Given the description of an element on the screen output the (x, y) to click on. 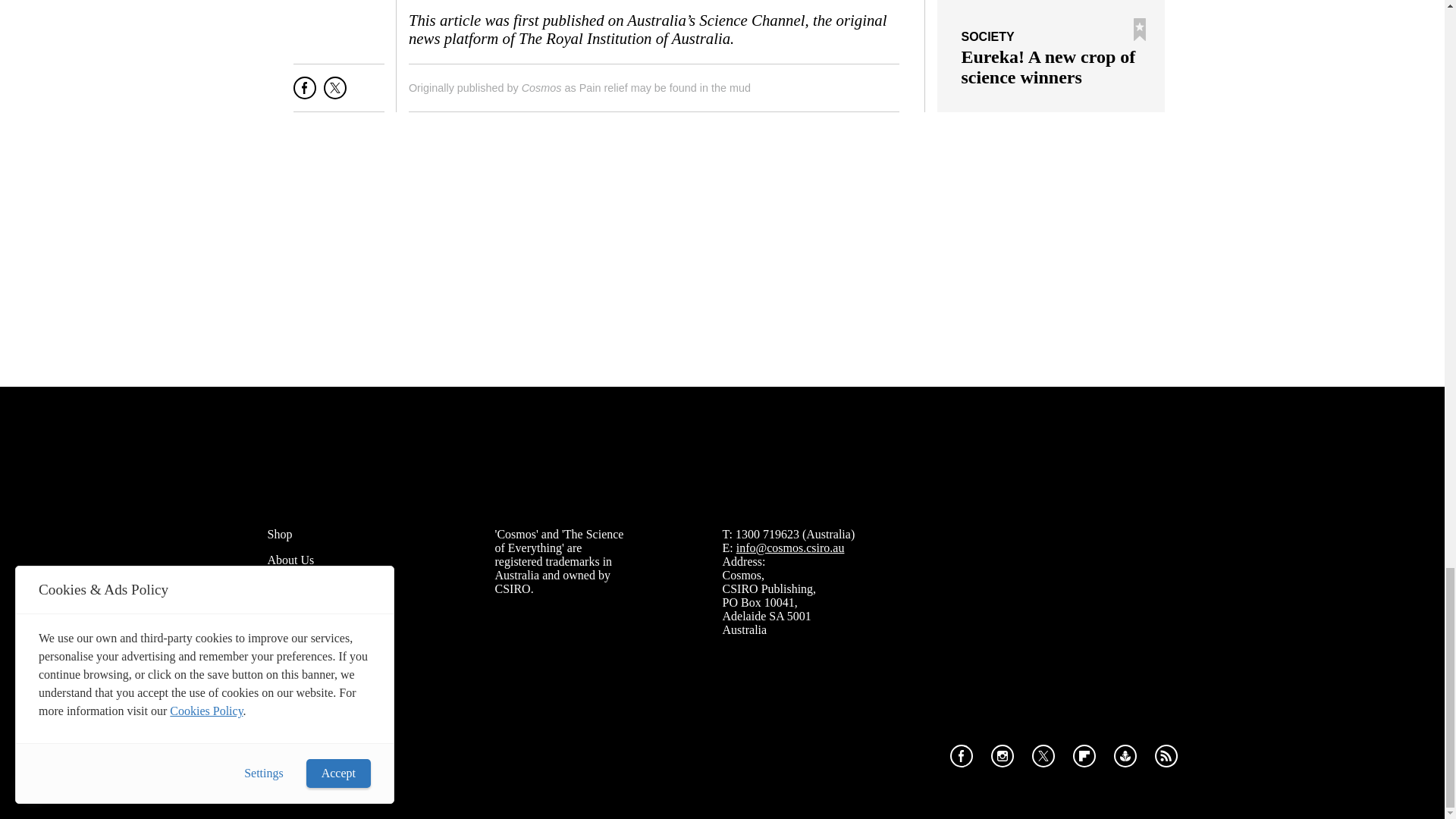
Pain relief may be found in the mud (665, 87)
Tweet (334, 93)
Share on Facebook (304, 93)
